Given the description of an element on the screen output the (x, y) to click on. 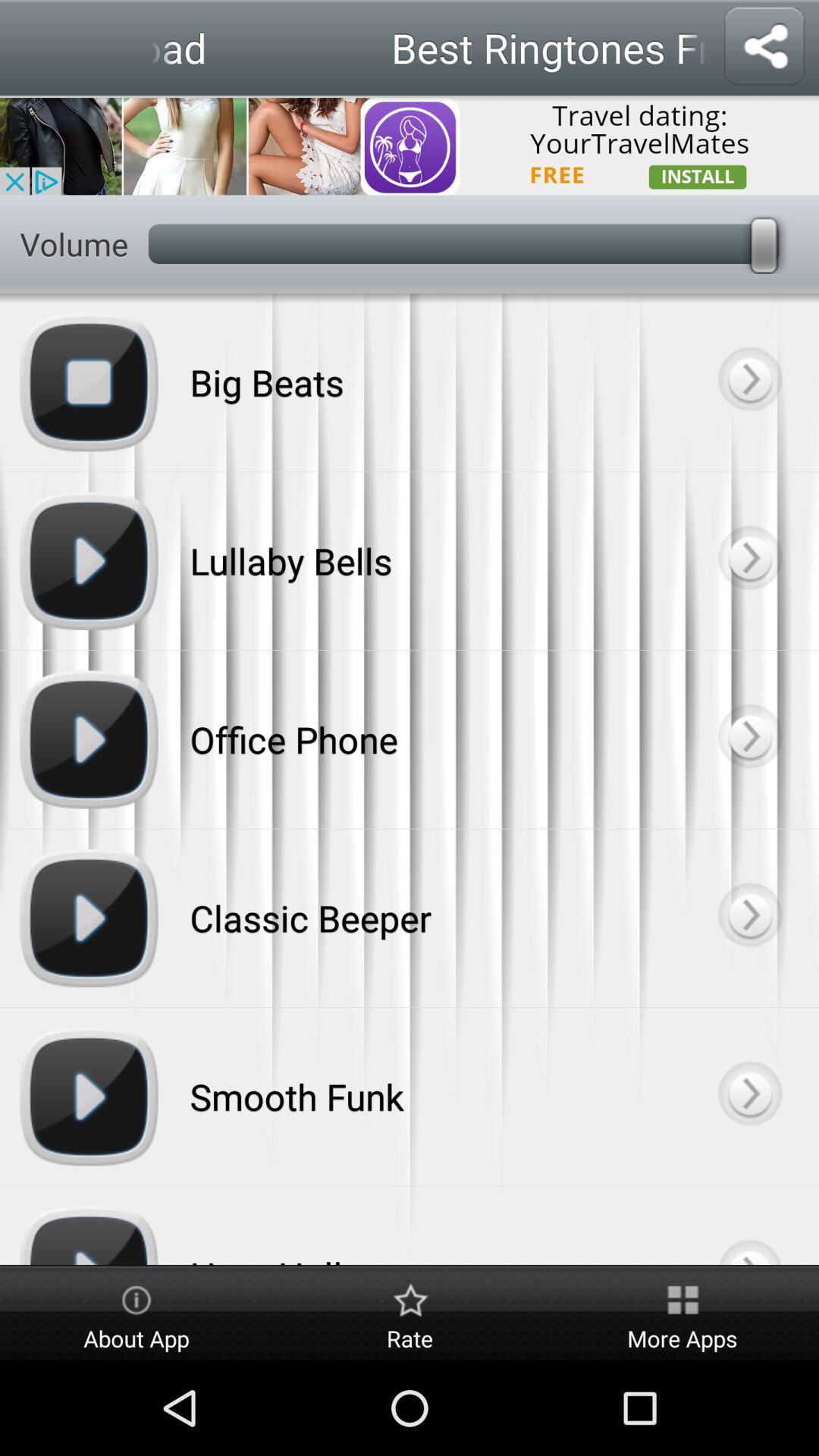
select on fourth drop down button (749, 918)
